Given the description of an element on the screen output the (x, y) to click on. 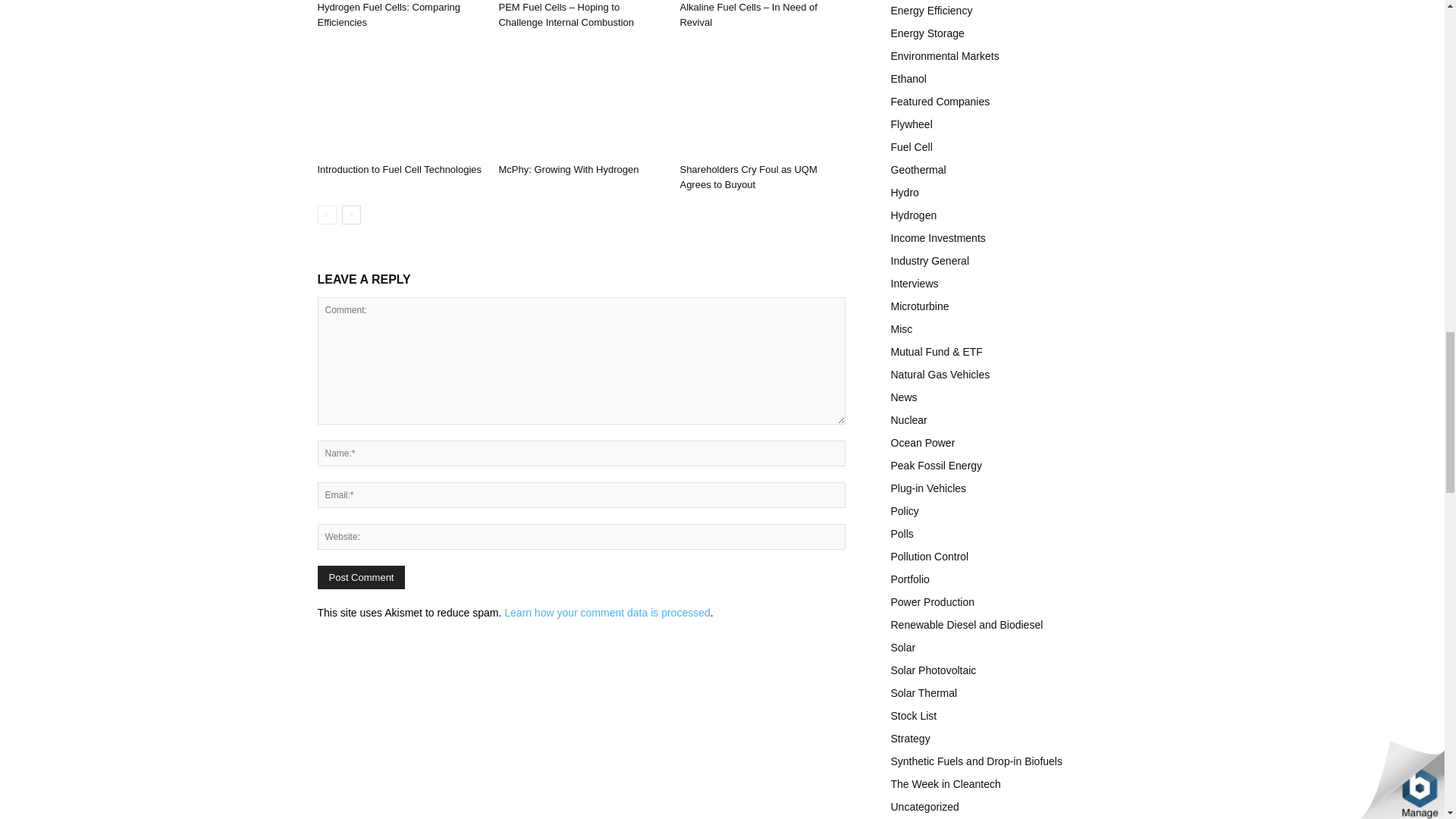
Post Comment (360, 576)
Hydrogen Fuel Cells: Comparing Efficiencies (388, 14)
